Given the description of an element on the screen output the (x, y) to click on. 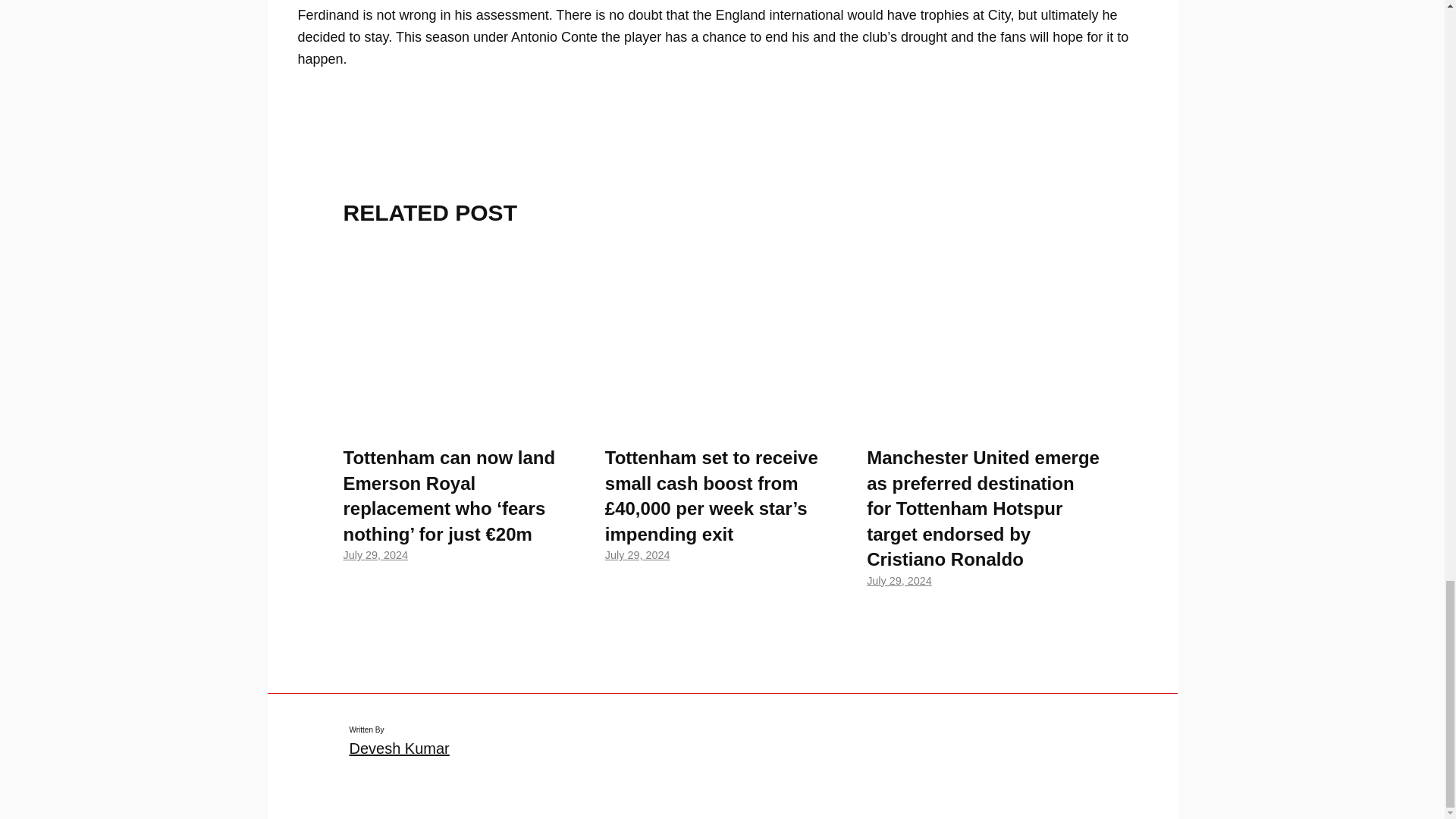
9:00 pm (374, 554)
8:00 pm (637, 554)
6:59 pm (898, 580)
